Given the description of an element on the screen output the (x, y) to click on. 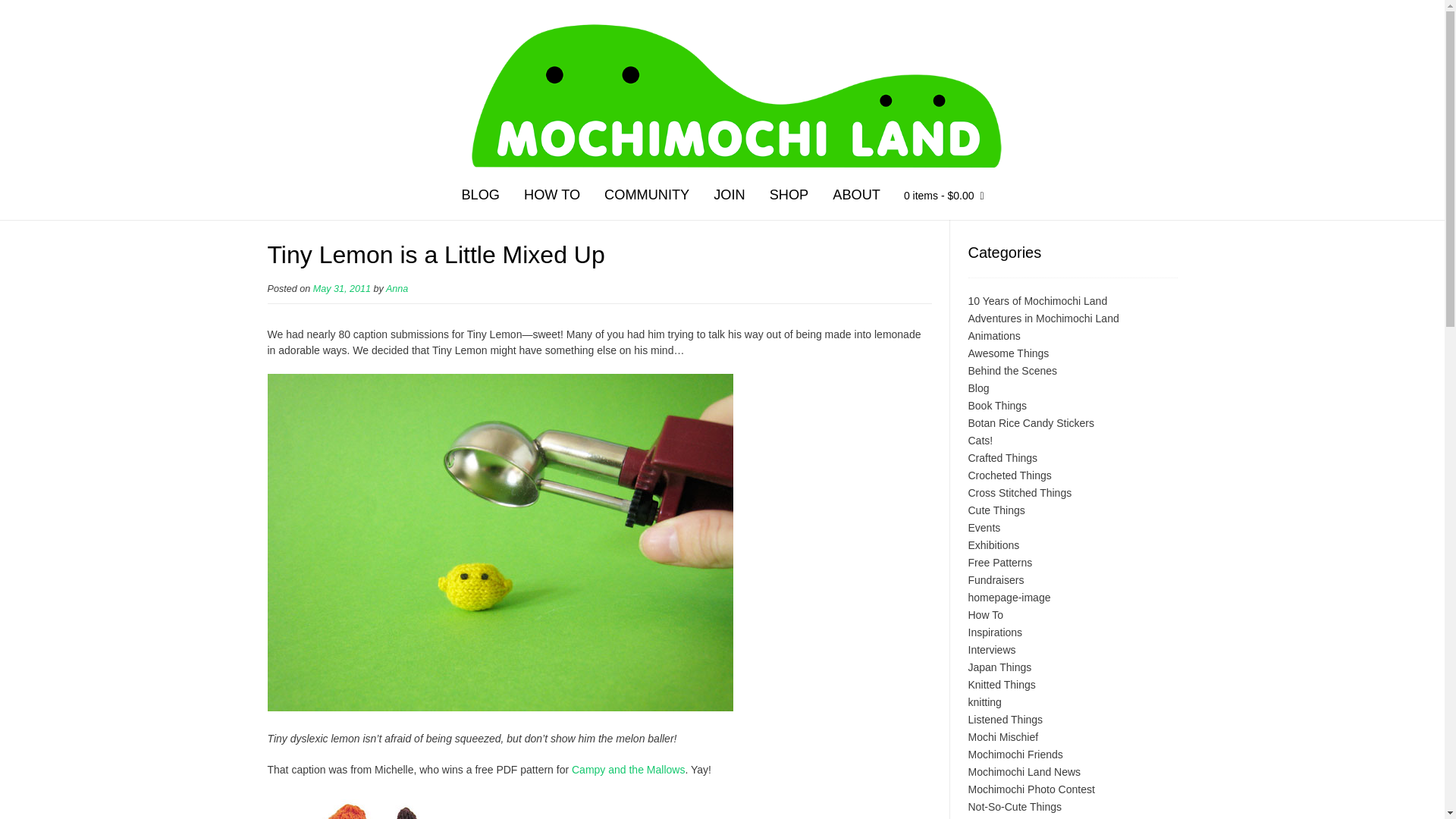
10 Years of Mochimochi Land (1037, 300)
ABOUT (856, 197)
Campy and the Mallows (628, 769)
BLOG (480, 197)
Adventures in Mochimochi Land (1043, 318)
Book Things (997, 405)
JOIN (729, 197)
May 31, 2011 (342, 288)
Animations (994, 336)
Behind the Scenes (1012, 370)
HOW TO (552, 197)
Blog (978, 387)
View your shopping cart (943, 198)
COMMUNITY (646, 197)
SHOP (789, 197)
